Given the description of an element on the screen output the (x, y) to click on. 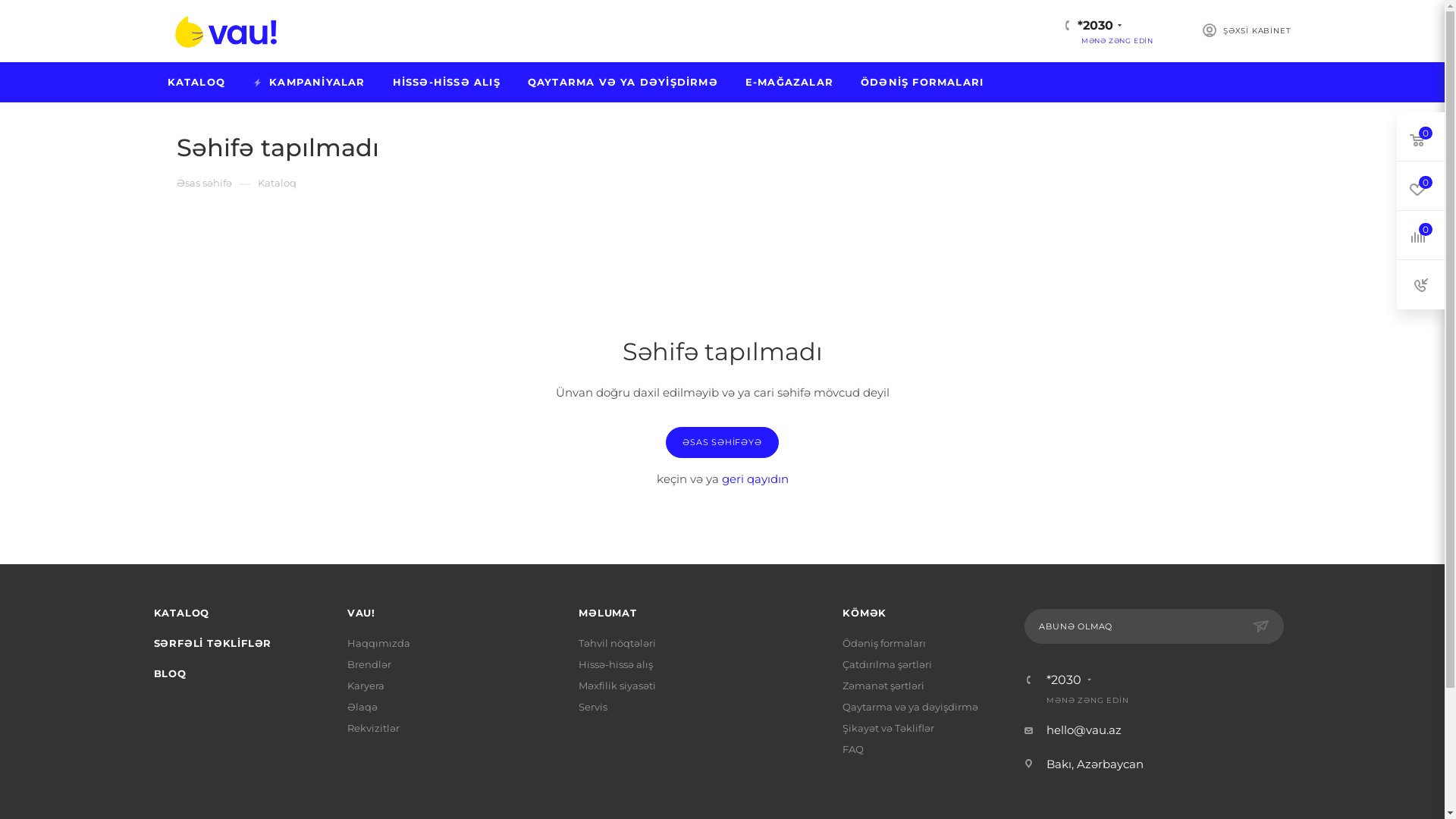
hello@vau.az Element type: text (1083, 729)
*2030 Element type: text (1095, 25)
Servis Element type: text (592, 706)
Kataloq Element type: text (276, 182)
*2030 Element type: text (1063, 680)
KAMPANIYALAR Element type: text (308, 82)
Axtar Element type: text (386, 30)
VAU! Element type: text (361, 612)
KATALOQ Element type: text (181, 612)
Karyera Element type: text (365, 685)
BLOQ Element type: text (169, 673)
FAQ Element type: text (852, 749)
